Given the description of an element on the screen output the (x, y) to click on. 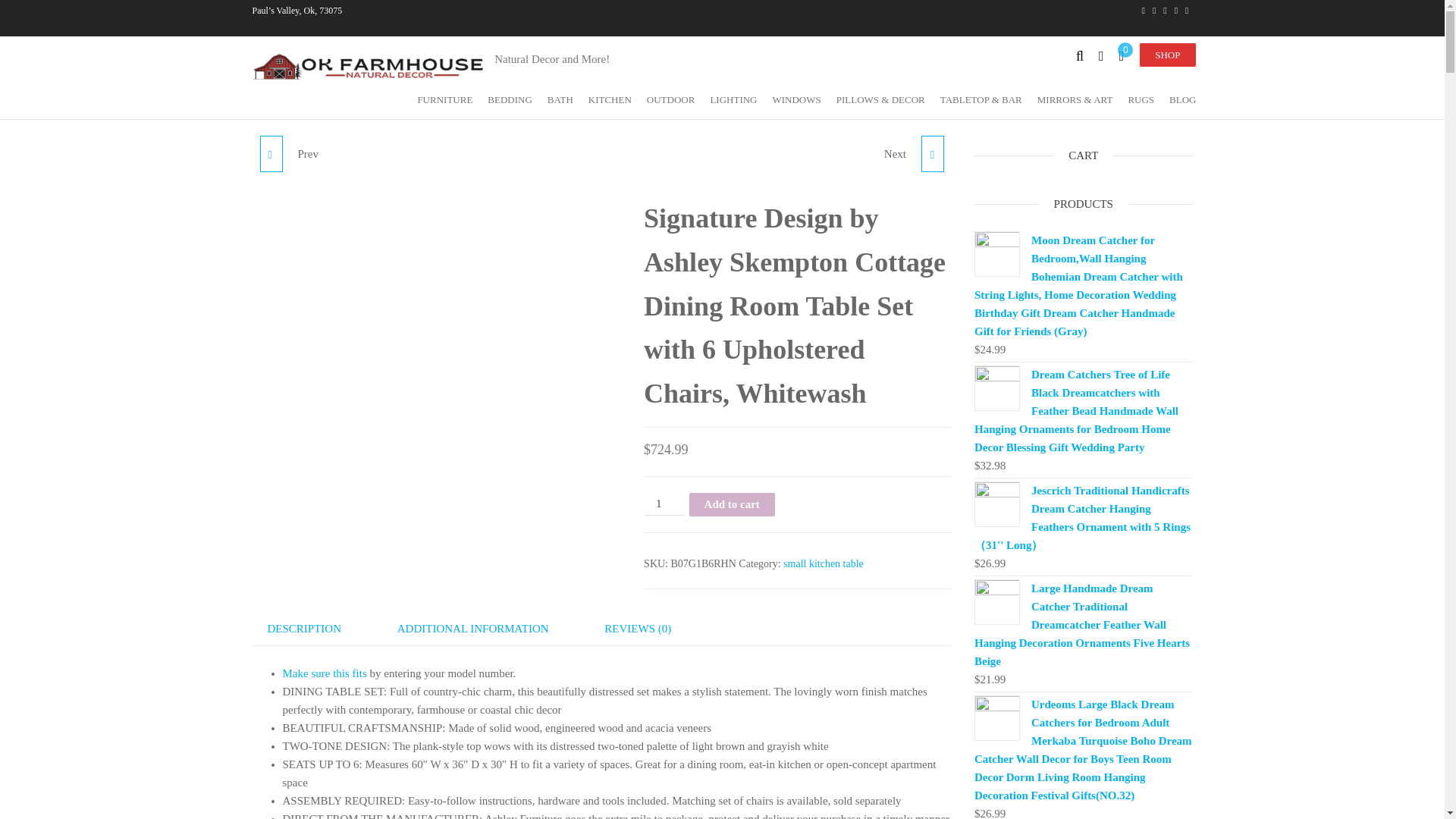
KITCHEN (609, 99)
1 (663, 503)
Oklahoma Farmhouse Decor (545, 86)
Rugs (1140, 99)
Kitchen (609, 99)
Outdoor (671, 99)
OUTDOOR (671, 99)
RUGS (1140, 99)
Bath (560, 99)
BEDDING (510, 99)
